Given the description of an element on the screen output the (x, y) to click on. 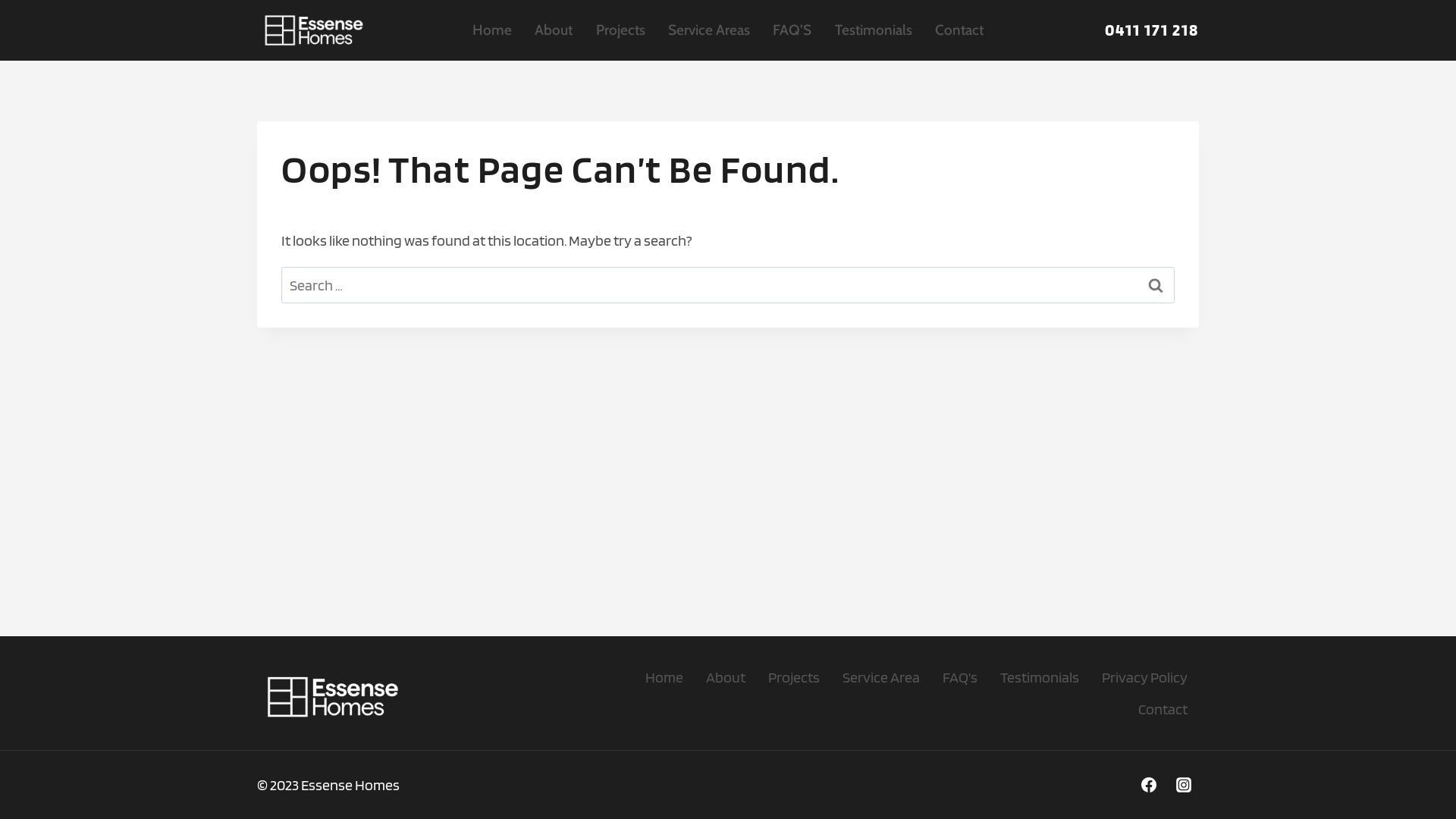
0411 171 218 Element type: text (1151, 29)
Home Element type: text (492, 30)
Search Element type: text (1155, 284)
About Element type: text (553, 30)
Projects Element type: text (619, 30)
Home Element type: text (663, 677)
Testimonials Element type: text (1039, 677)
Projects Element type: text (793, 677)
Privacy Policy Element type: text (1144, 677)
Testimonials Element type: text (873, 30)
Contact Element type: text (1162, 708)
Service Area Element type: text (881, 677)
Contact Element type: text (958, 30)
Service Areas Element type: text (708, 30)
About Element type: text (725, 677)
